Given the description of an element on the screen output the (x, y) to click on. 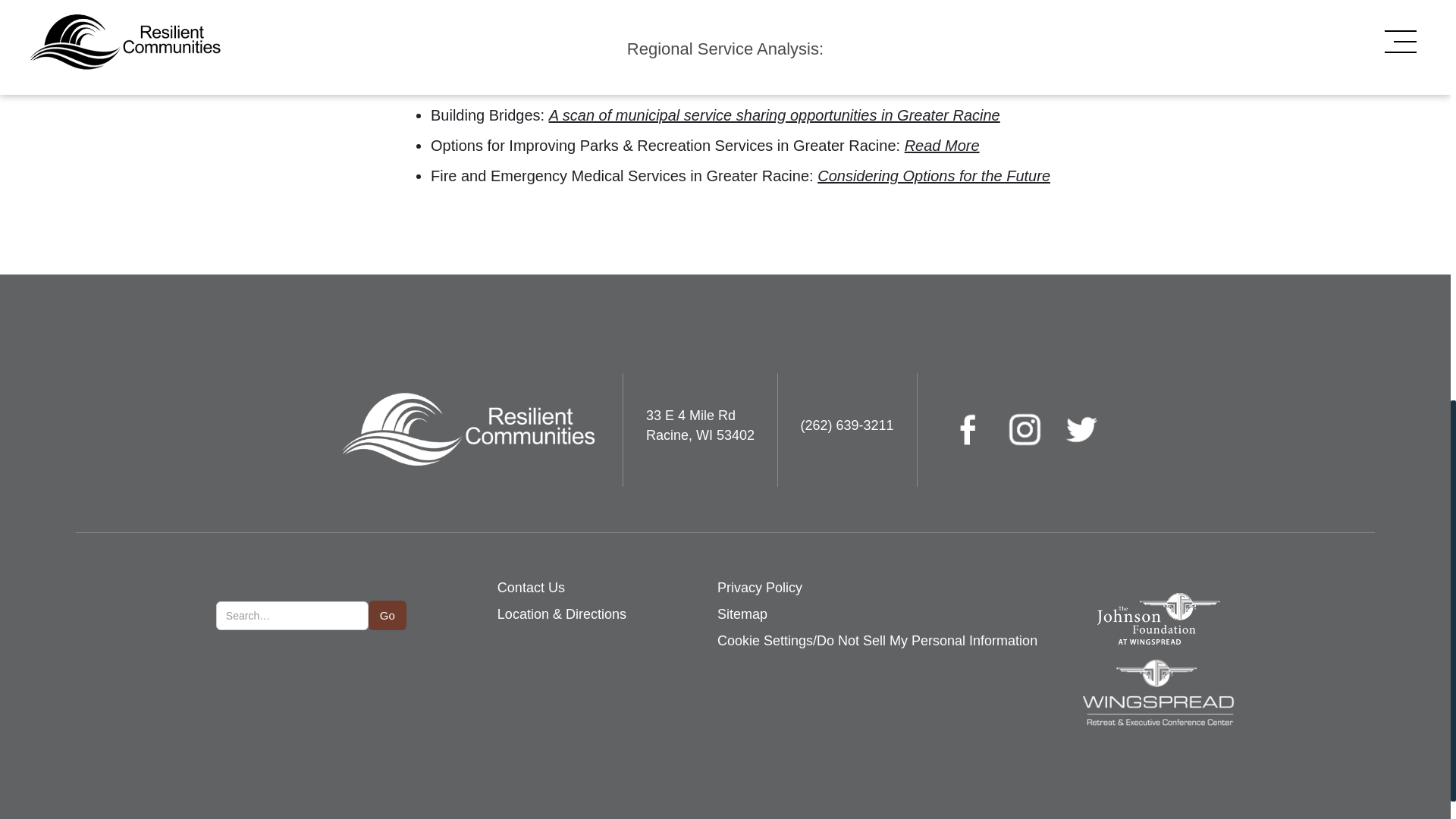
Go (387, 614)
Privacy Policy (759, 587)
Sitemap (742, 614)
Go (387, 614)
Contact Us (530, 587)
Go (387, 614)
